Given the description of an element on the screen output the (x, y) to click on. 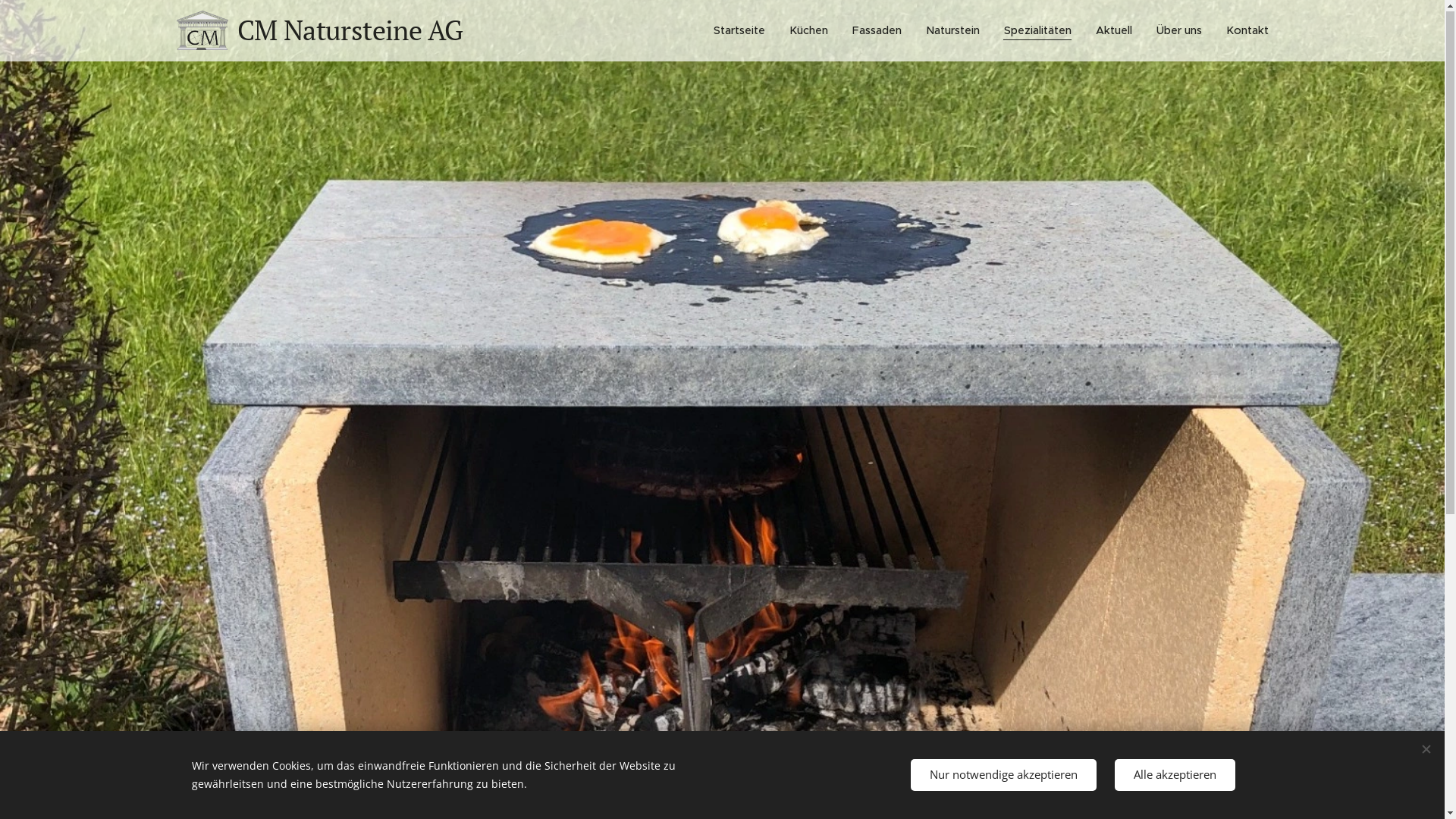
Nur notwendige akzeptieren Element type: text (1002, 774)
Kontakt Element type: text (1240, 31)
Naturstein Element type: text (952, 31)
Startseite Element type: text (743, 31)
Alle akzeptieren Element type: text (1174, 774)
CM Natursteine AG Element type: text (321, 31)
Aktuell Element type: text (1112, 31)
Fassaden Element type: text (876, 31)
